Given the description of an element on the screen output the (x, y) to click on. 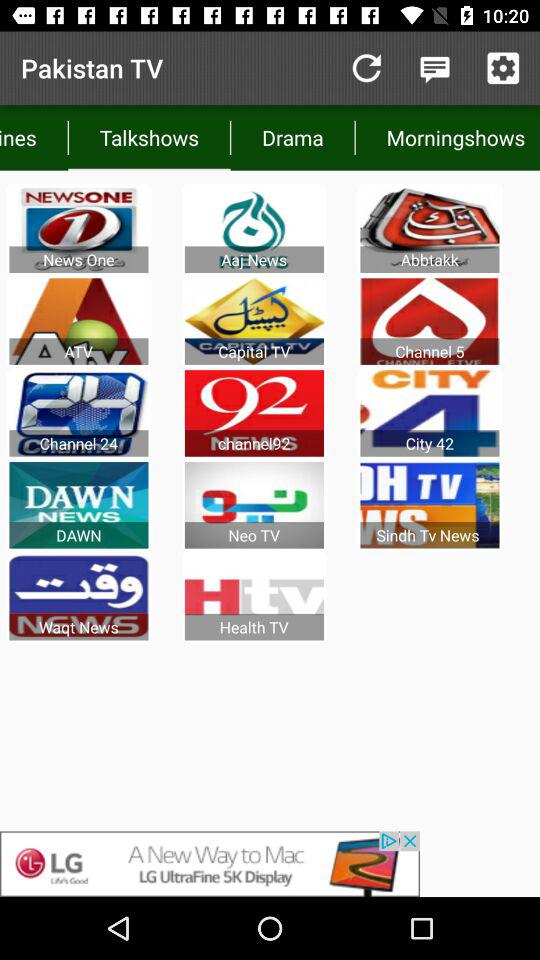
go to the settings page (503, 67)
